Given the description of an element on the screen output the (x, y) to click on. 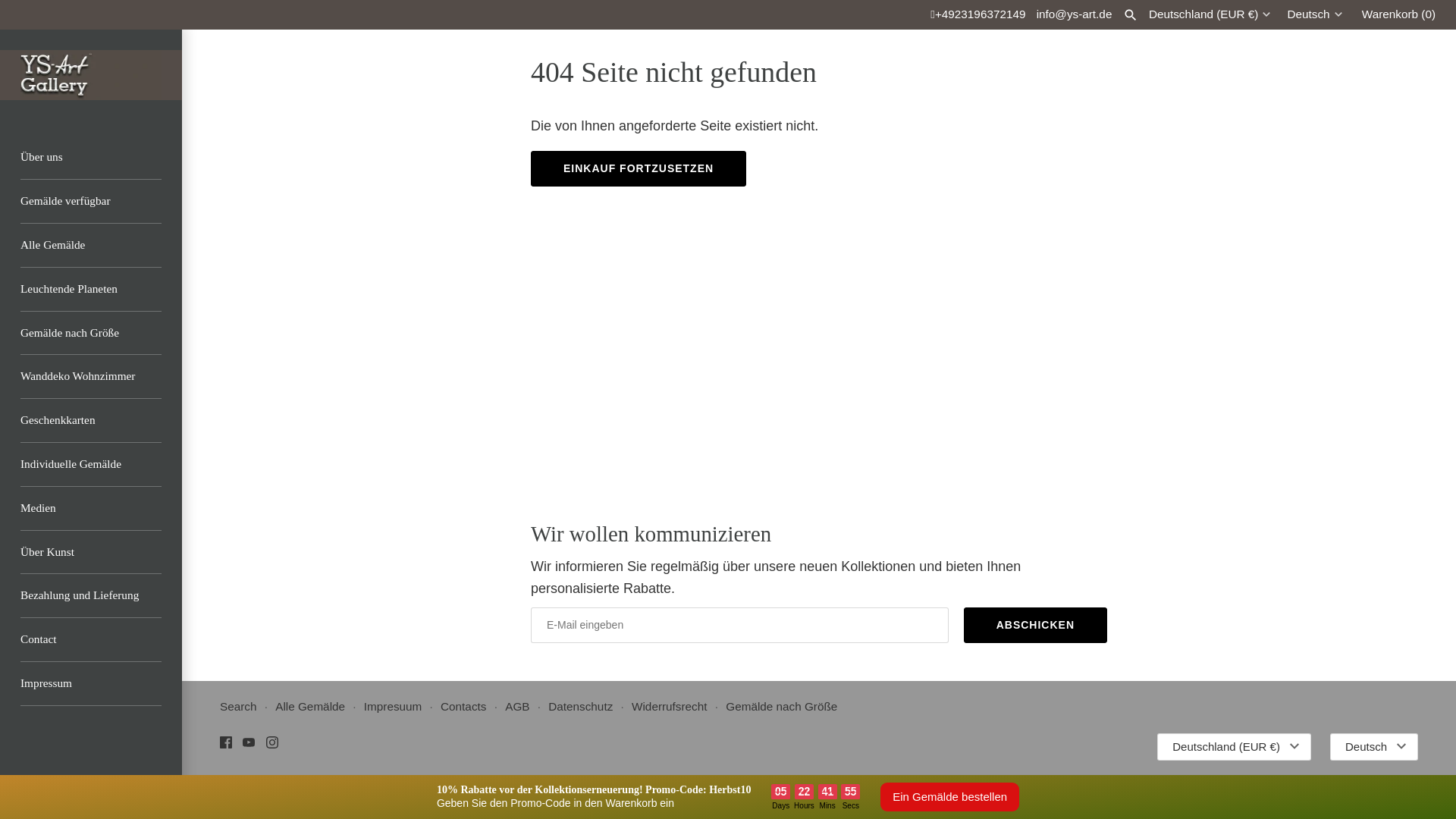
Instagram (271, 742)
Klarna (1227, 784)
Apple Pay (1156, 784)
Maestro (1262, 784)
PayPal (1332, 784)
Visa (1402, 784)
Union Pay (1367, 784)
YSART (91, 74)
Google Pay (1191, 784)
American Express (1121, 784)
